Given the description of an element on the screen output the (x, y) to click on. 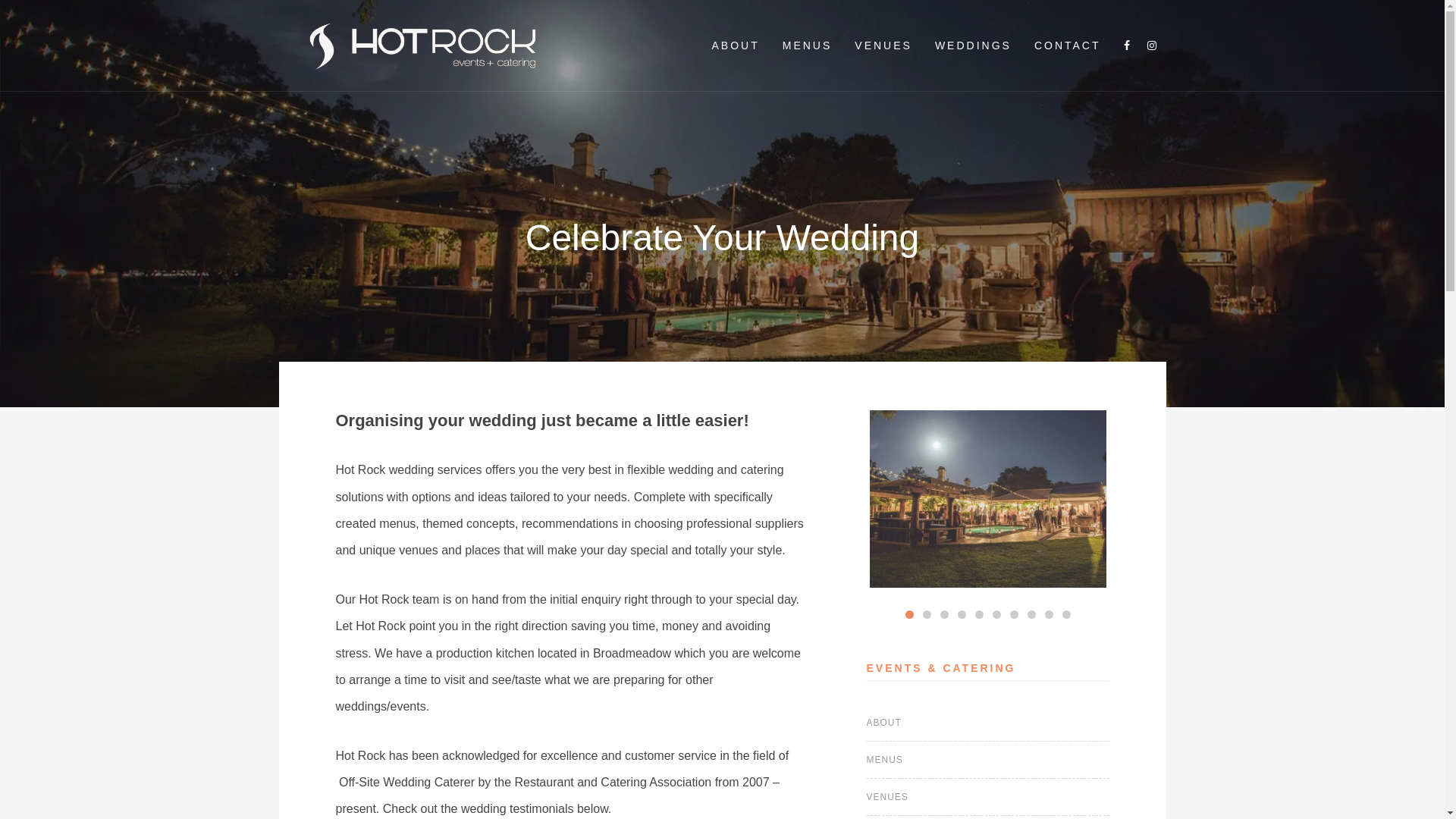
ABOUT Element type: text (735, 45)
5 Element type: text (979, 614)
VENUES Element type: text (887, 796)
9 Element type: text (1048, 614)
6 Element type: text (995, 614)
4 Element type: text (961, 614)
8 Element type: text (1030, 614)
1 Element type: text (909, 614)
7 Element type: text (1014, 614)
CONTACT Element type: text (1067, 45)
VENUES Element type: text (883, 45)
ABOUT Element type: text (883, 722)
MENUS Element type: text (884, 759)
MENUS Element type: text (807, 45)
desserts Element type: hover (751, 498)
2 Element type: text (926, 614)
WEDDINGS Element type: text (973, 45)
10 Element type: text (1065, 614)
3 Element type: text (944, 614)
content-banner Element type: hover (987, 498)
